Given the description of an element on the screen output the (x, y) to click on. 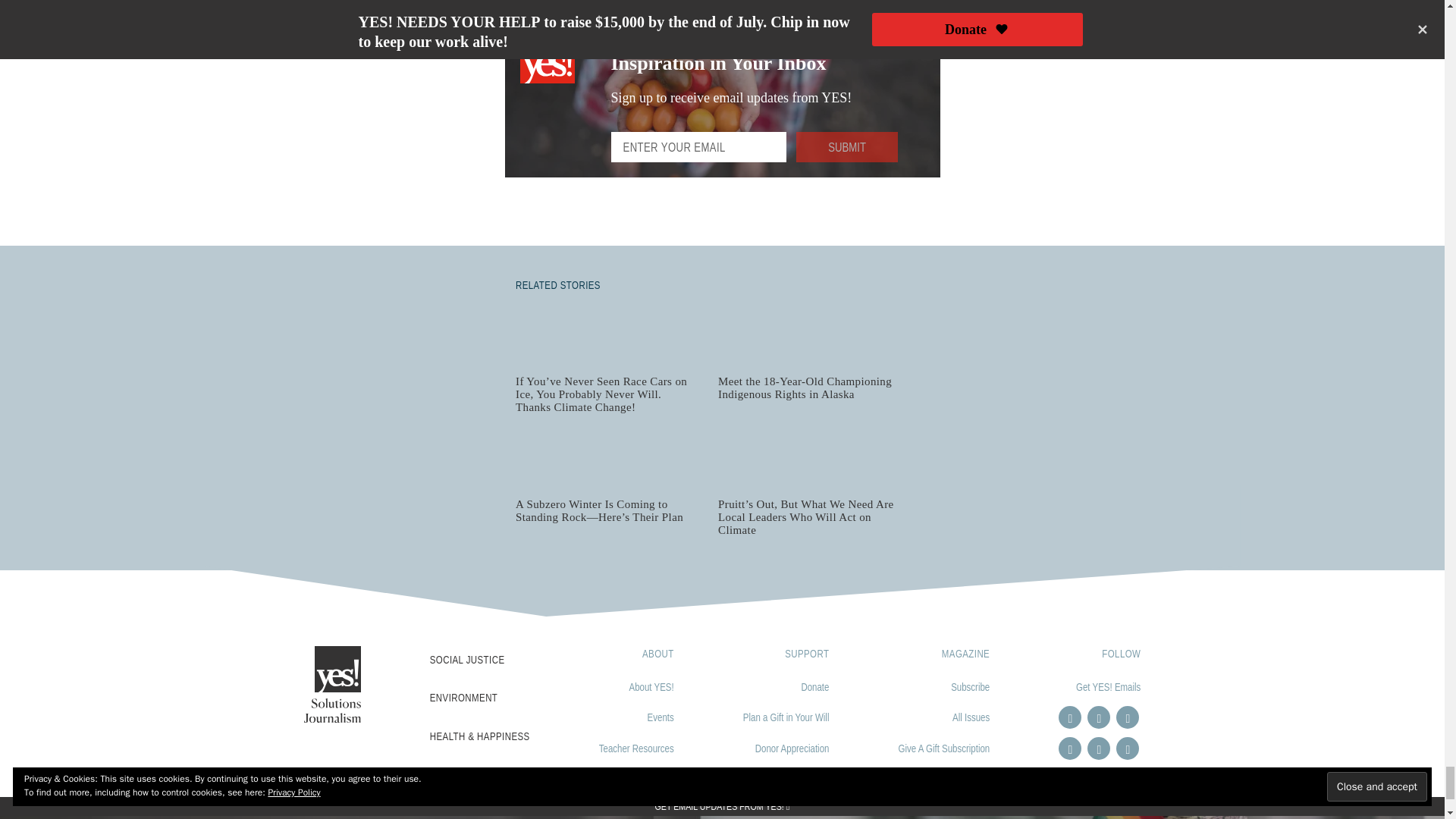
Submit (847, 146)
